Given the description of an element on the screen output the (x, y) to click on. 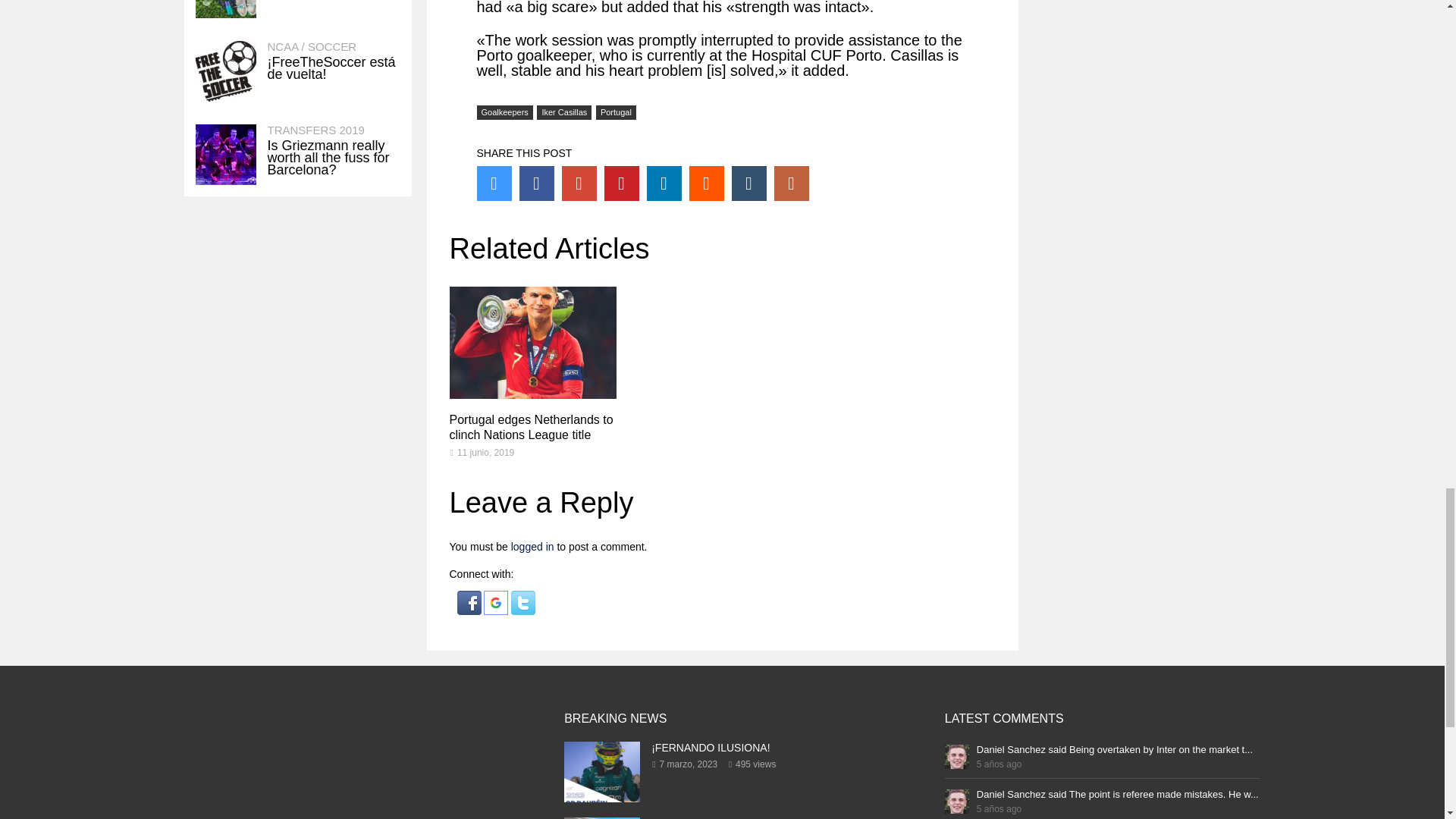
Facebook (535, 183)
Twitter (493, 183)
